Given the description of an element on the screen output the (x, y) to click on. 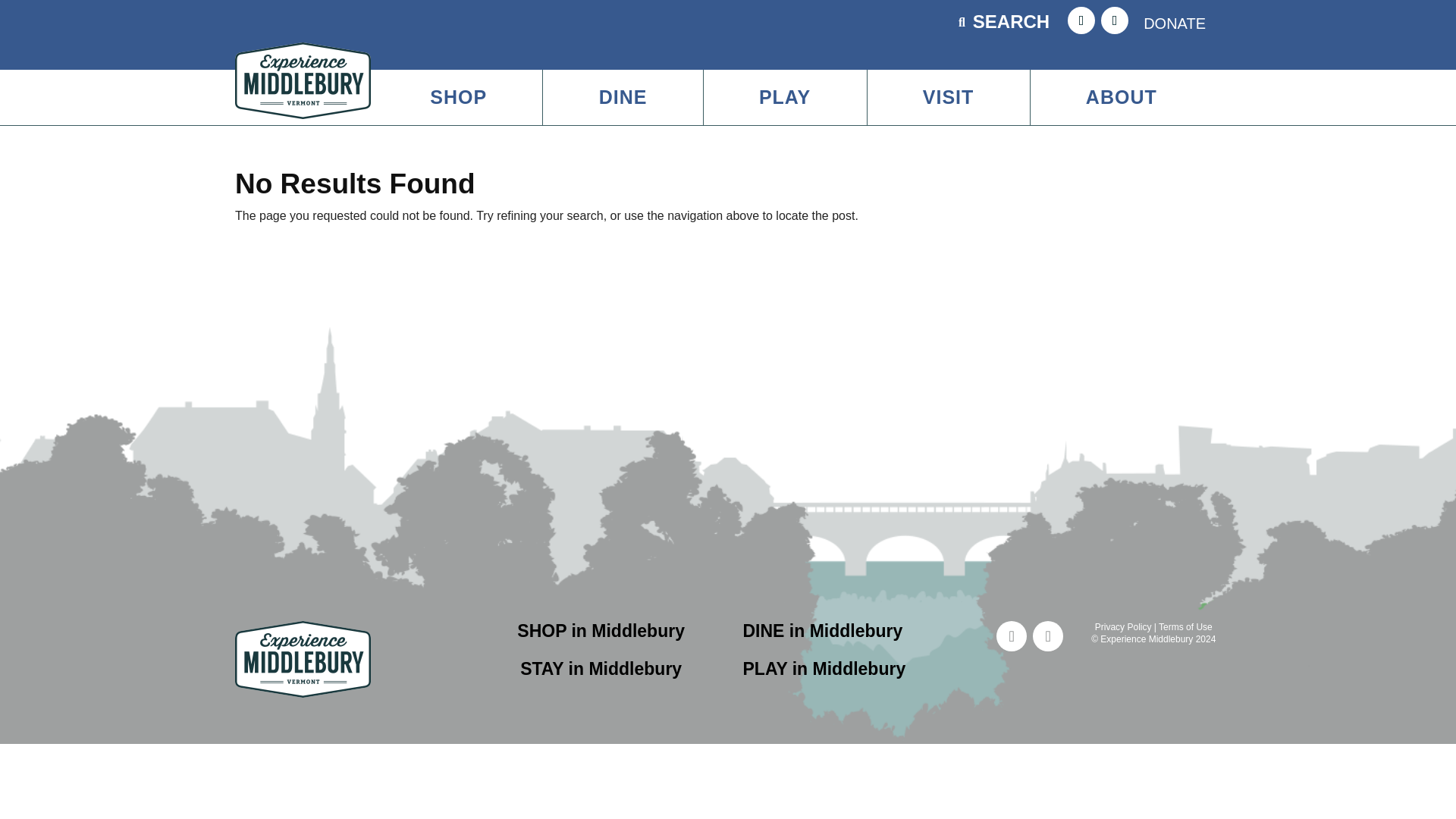
PLAY (784, 97)
ABOUT (1121, 97)
logo (302, 658)
logo (302, 80)
Follow on Facebook (1010, 635)
Follow on Facebook (1080, 20)
SEARCH (1012, 21)
VISIT (948, 97)
Follow on Instagram (1047, 635)
SHOP (457, 97)
Follow on Instagram (1114, 20)
DONATE (1174, 22)
